Given the description of an element on the screen output the (x, y) to click on. 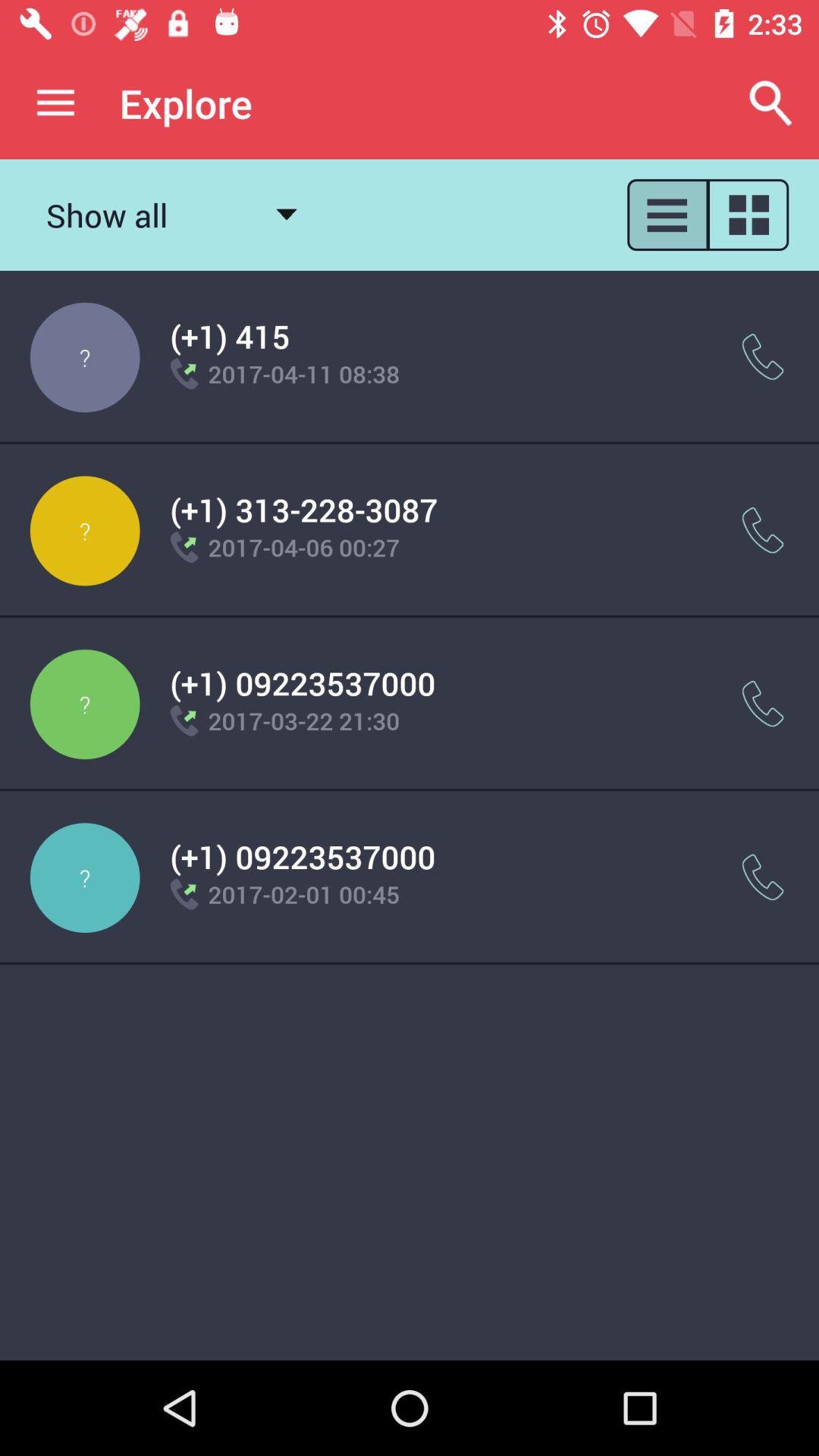
apps (666, 214)
